Given the description of an element on the screen output the (x, y) to click on. 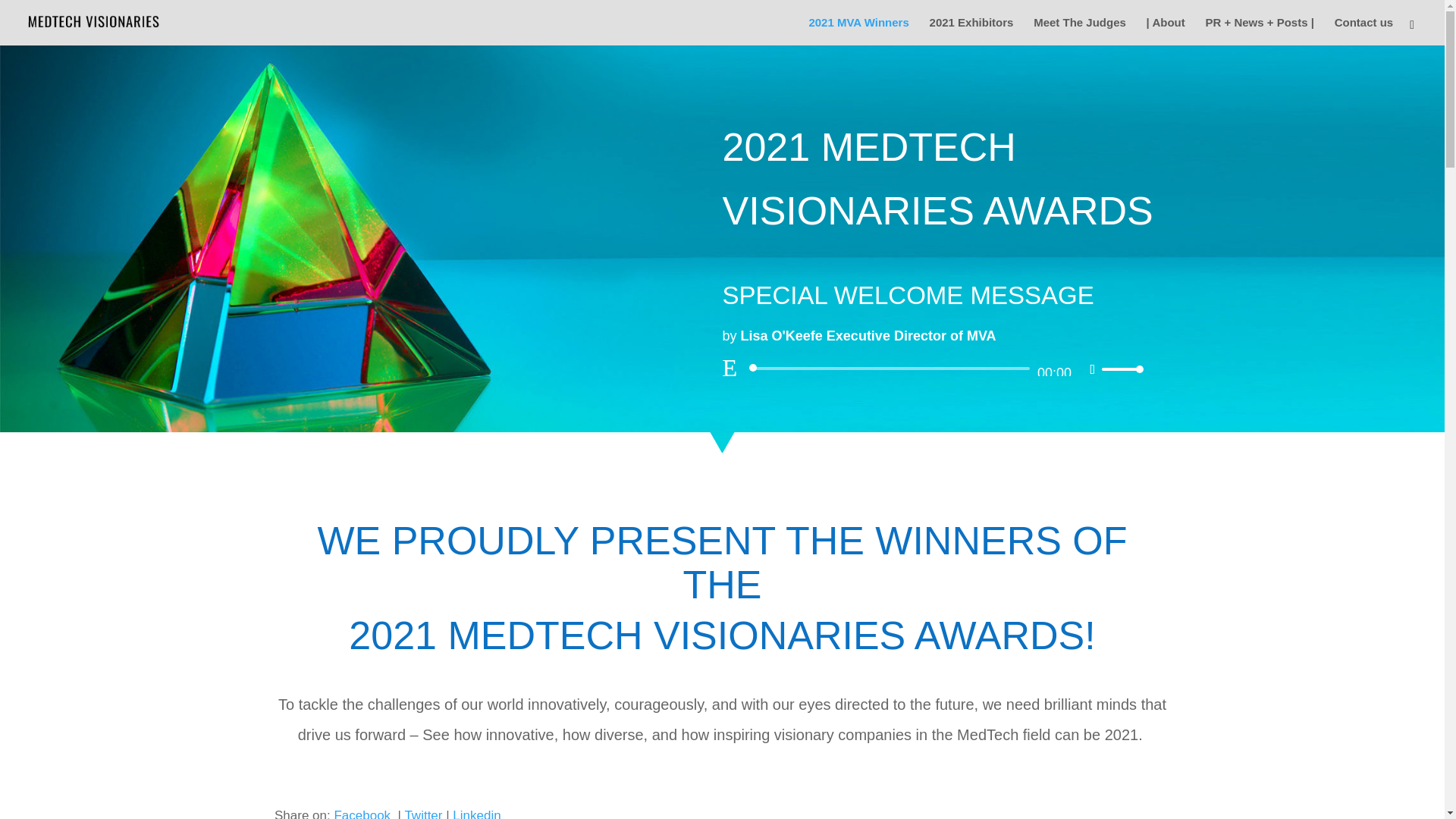
Facebook (361, 813)
Meet The Judges (1079, 31)
2021 Exhibitors (971, 31)
Twitter (423, 813)
Linkedin (476, 813)
Contact us (1364, 31)
2021 MVA Winners (858, 31)
Mute (1091, 368)
Play (729, 367)
